Given the description of an element on the screen output the (x, y) to click on. 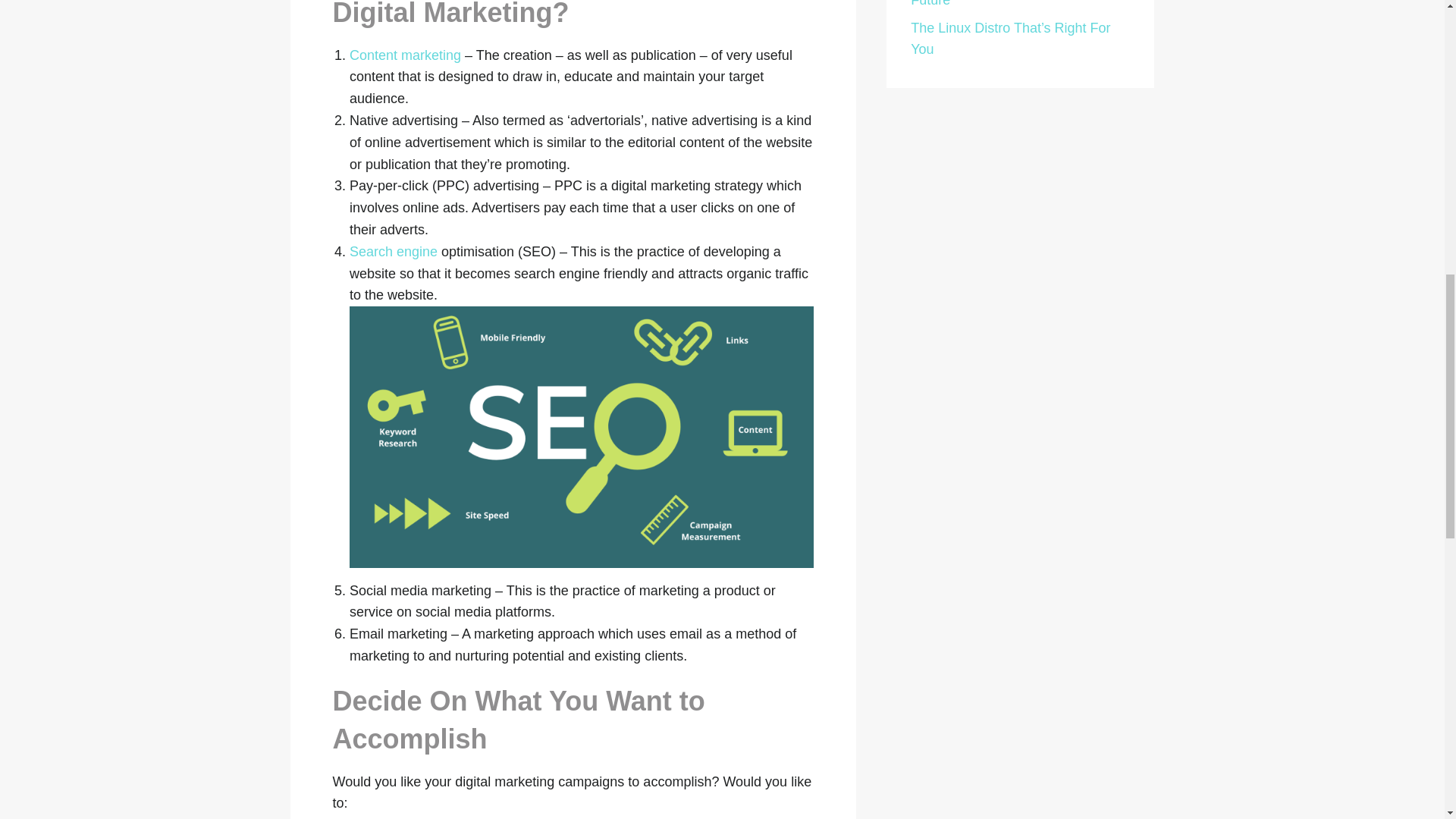
Search engine (393, 251)
Content marketing (405, 55)
